Given the description of an element on the screen output the (x, y) to click on. 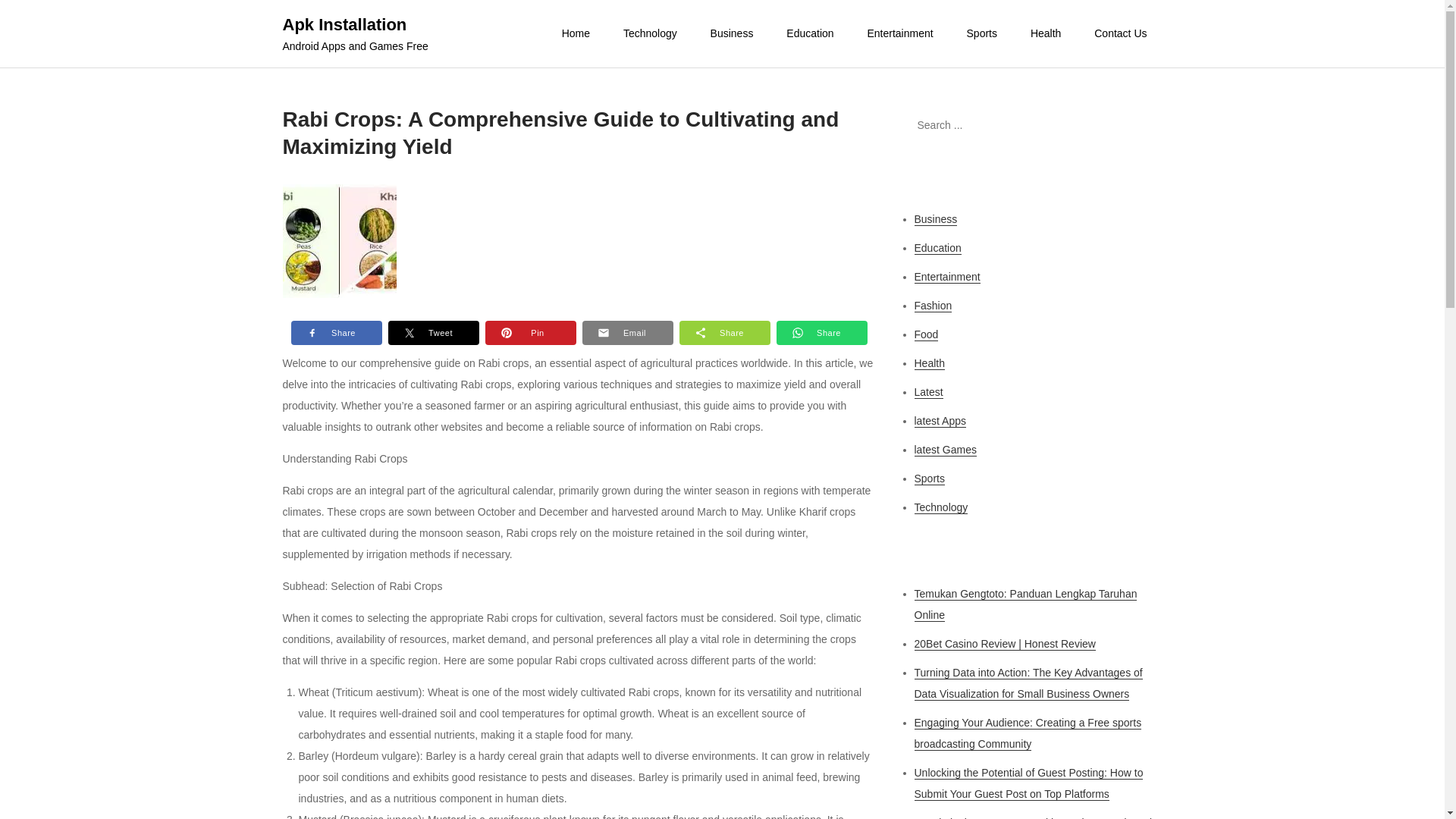
Latest (928, 391)
latest Apps (940, 420)
Apk Installation (344, 24)
Contact Us (1119, 33)
latest Games (945, 449)
Health (1044, 33)
Temukan Gengtoto: Panduan Lengkap Taruhan Online (1025, 604)
Sports (981, 33)
Search (1142, 125)
Sports (929, 478)
Business (731, 33)
Business (936, 219)
